Given the description of an element on the screen output the (x, y) to click on. 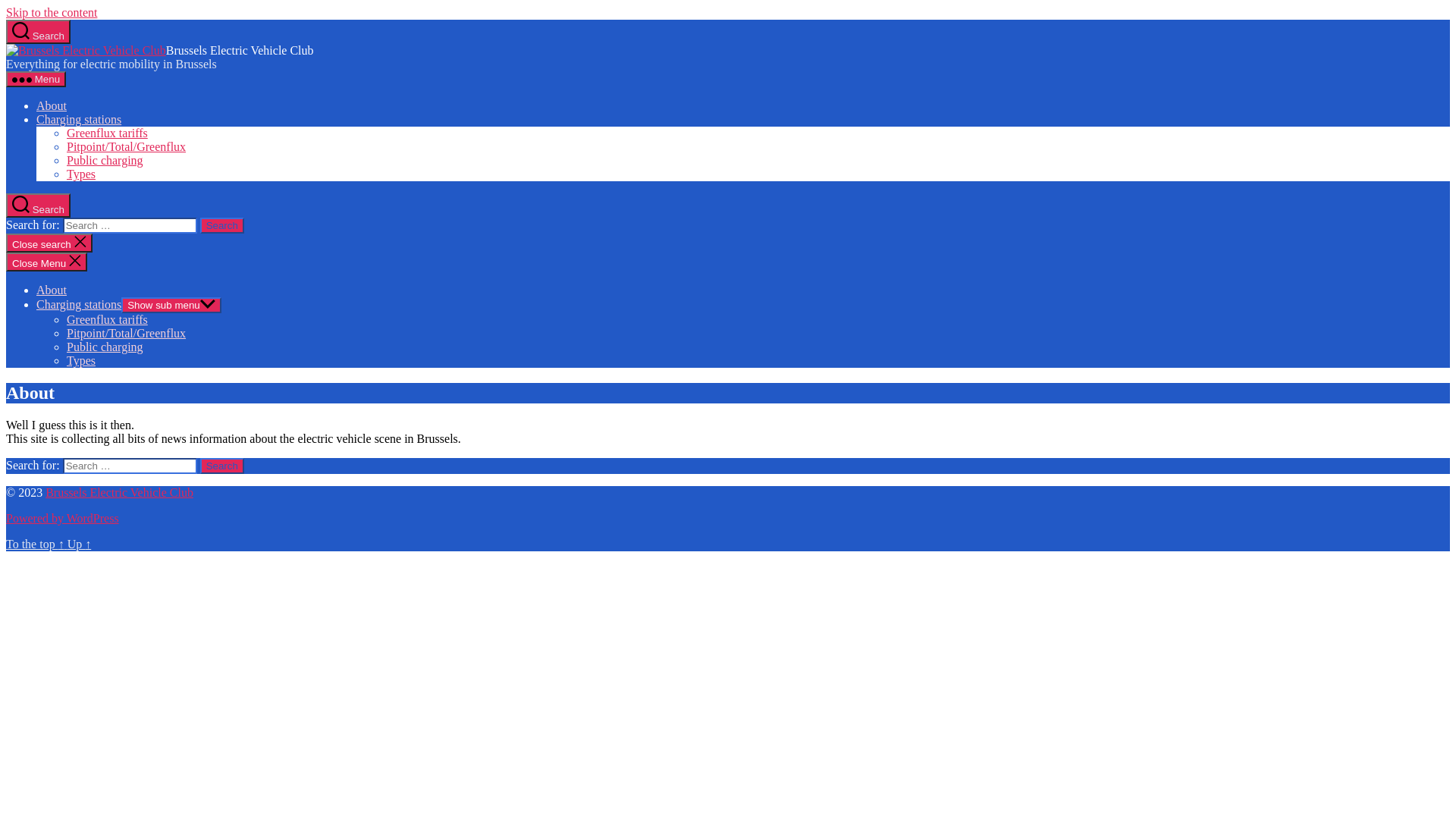
Show sub menu Element type: text (171, 305)
Close search Element type: text (49, 242)
About Element type: text (51, 105)
Powered by WordPress Element type: text (62, 517)
Public charging Element type: text (104, 159)
Pitpoint/Total/Greenflux Element type: text (125, 146)
Types Element type: text (80, 173)
Close Menu Element type: text (46, 261)
Search Element type: text (222, 465)
Search Element type: text (222, 225)
Pitpoint/Total/Greenflux Element type: text (125, 332)
Types Element type: text (80, 360)
Greenflux tariffs Element type: text (106, 132)
Public charging Element type: text (104, 346)
Menu Element type: text (35, 79)
Charging stations Element type: text (78, 118)
About Element type: text (51, 289)
Greenflux tariffs Element type: text (106, 319)
Charging stations Element type: text (78, 304)
Search Element type: text (38, 31)
Search Element type: text (38, 205)
Skip to the content Element type: text (51, 12)
Brussels Electric Vehicle Club Element type: text (119, 492)
